Given the description of an element on the screen output the (x, y) to click on. 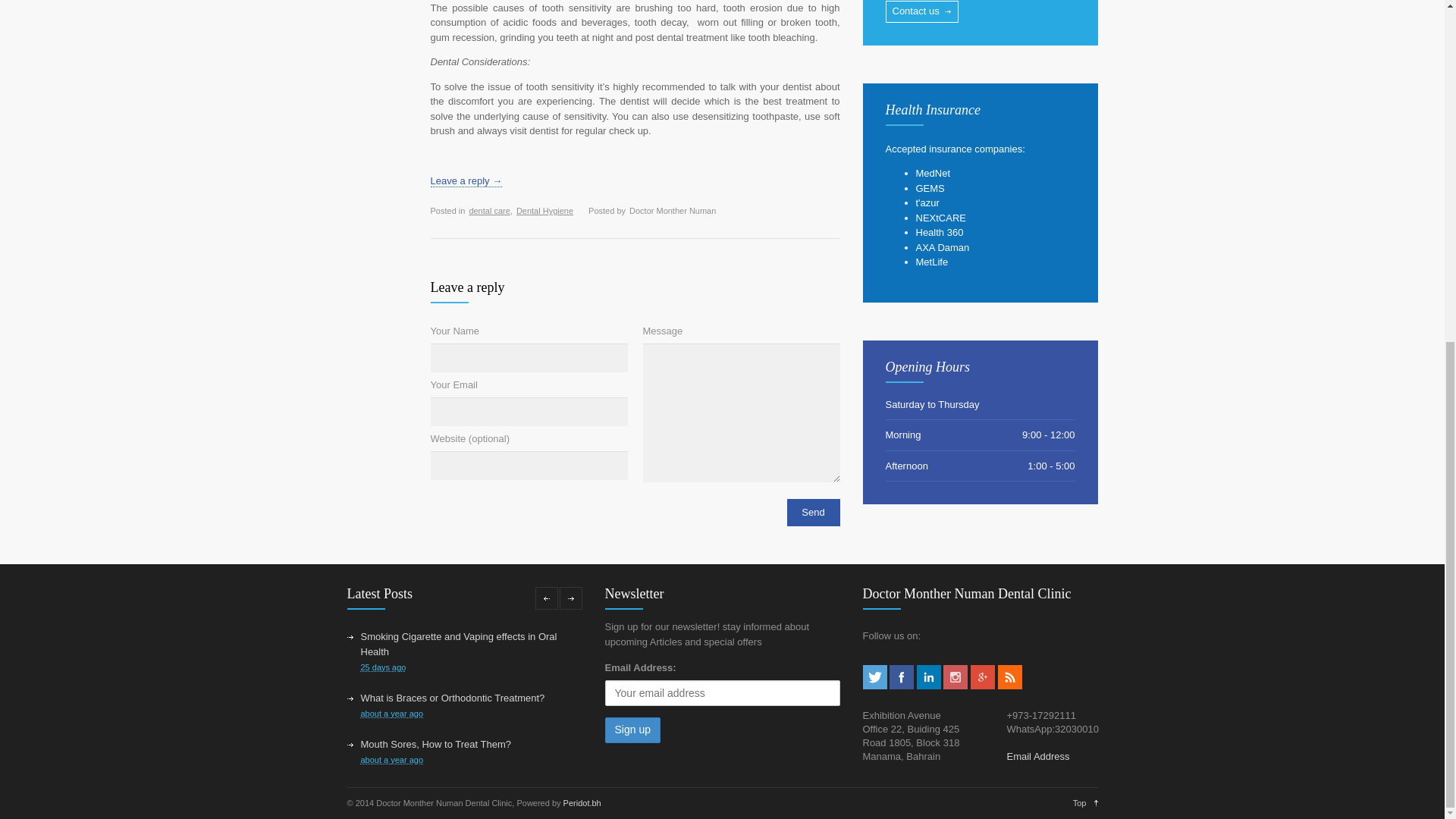
What is Braces or Orthodontic Treatment? (452, 697)
View all posts filed under dental care (488, 210)
Mouth Sores, How to Treat Them? (436, 744)
Sign up (633, 729)
Sign up (633, 729)
Send (813, 512)
Send (813, 512)
Contact us (921, 11)
Smoking Cigarette and Vaping effects in Oral Health (459, 643)
dental care (488, 210)
